Given the description of an element on the screen output the (x, y) to click on. 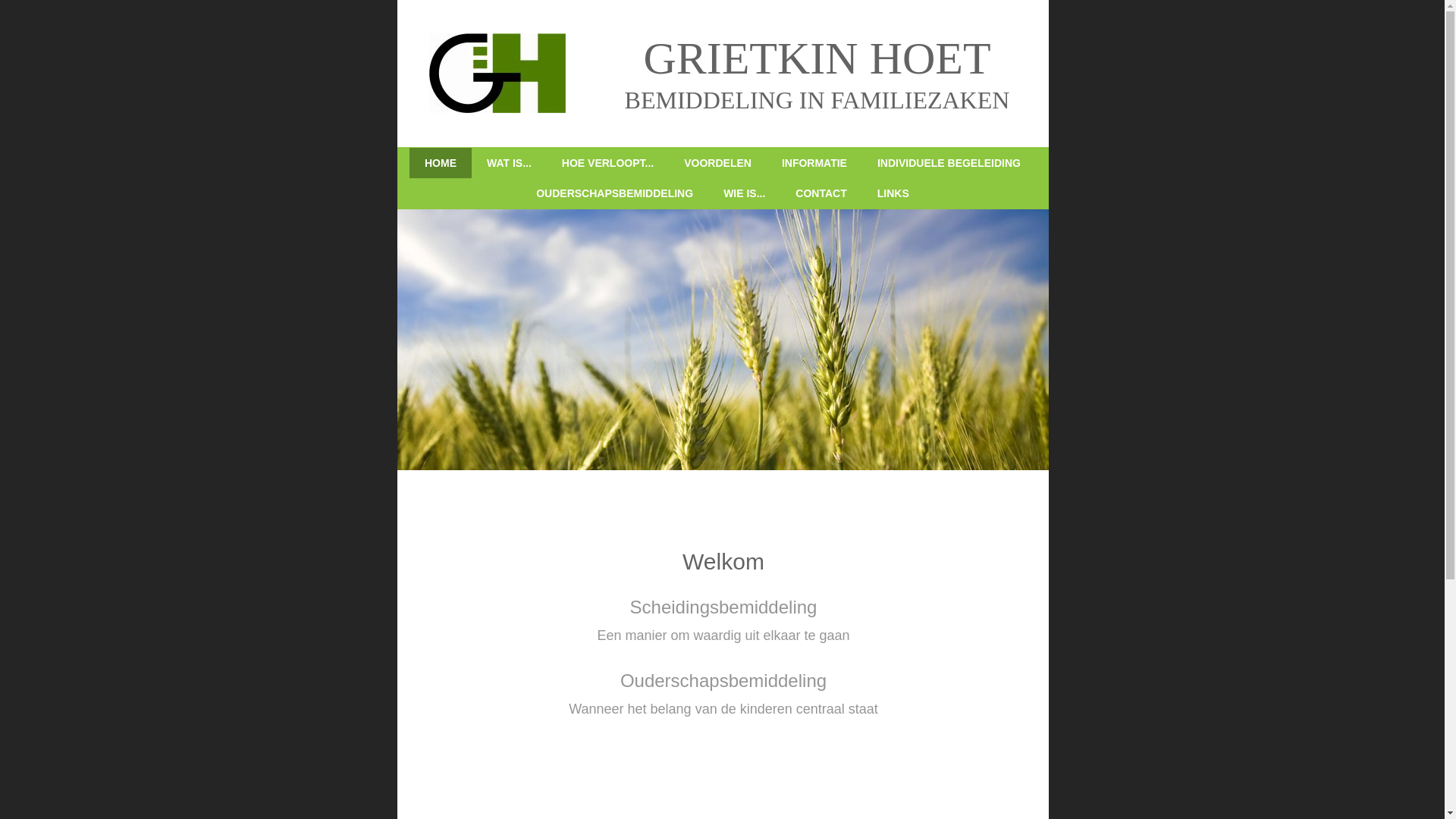
CONTACT Element type: text (820, 193)
VOORDELEN Element type: text (717, 162)
LINKS Element type: text (893, 193)
WAT IS... Element type: text (508, 162)
HOE VERLOOPT... Element type: text (607, 162)
INFORMATIE Element type: text (814, 162)
HOME Element type: text (440, 162)
OUDERSCHAPSBEMIDDELING Element type: text (614, 193)
INDIVIDUELE BEGELEIDING Element type: text (948, 162)
WIE IS... Element type: text (744, 193)
